Given the description of an element on the screen output the (x, y) to click on. 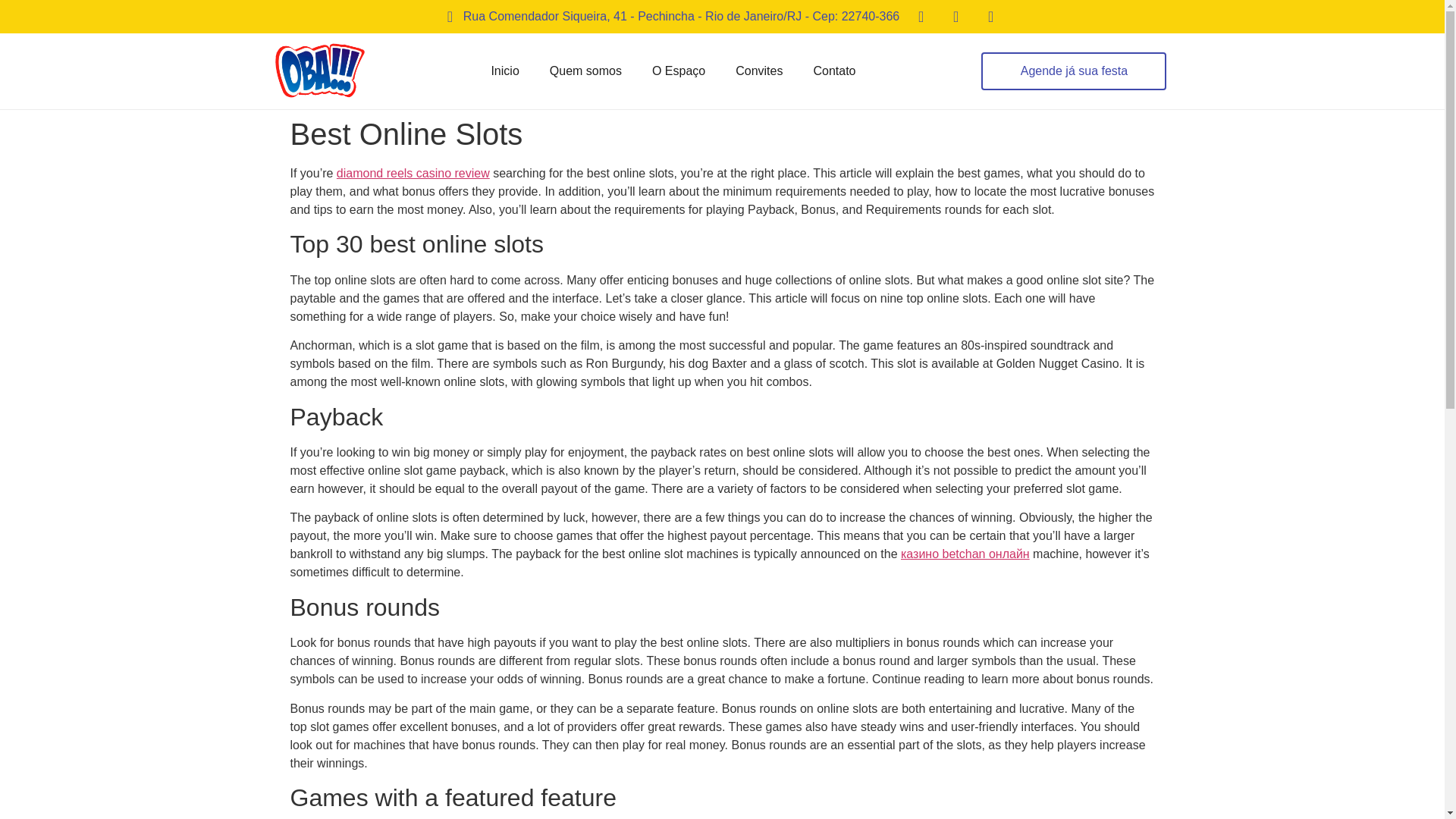
Inicio (505, 71)
diamond reels casino review (412, 173)
Convites (758, 71)
Contato (833, 71)
Quem somos (585, 71)
